Given the description of an element on the screen output the (x, y) to click on. 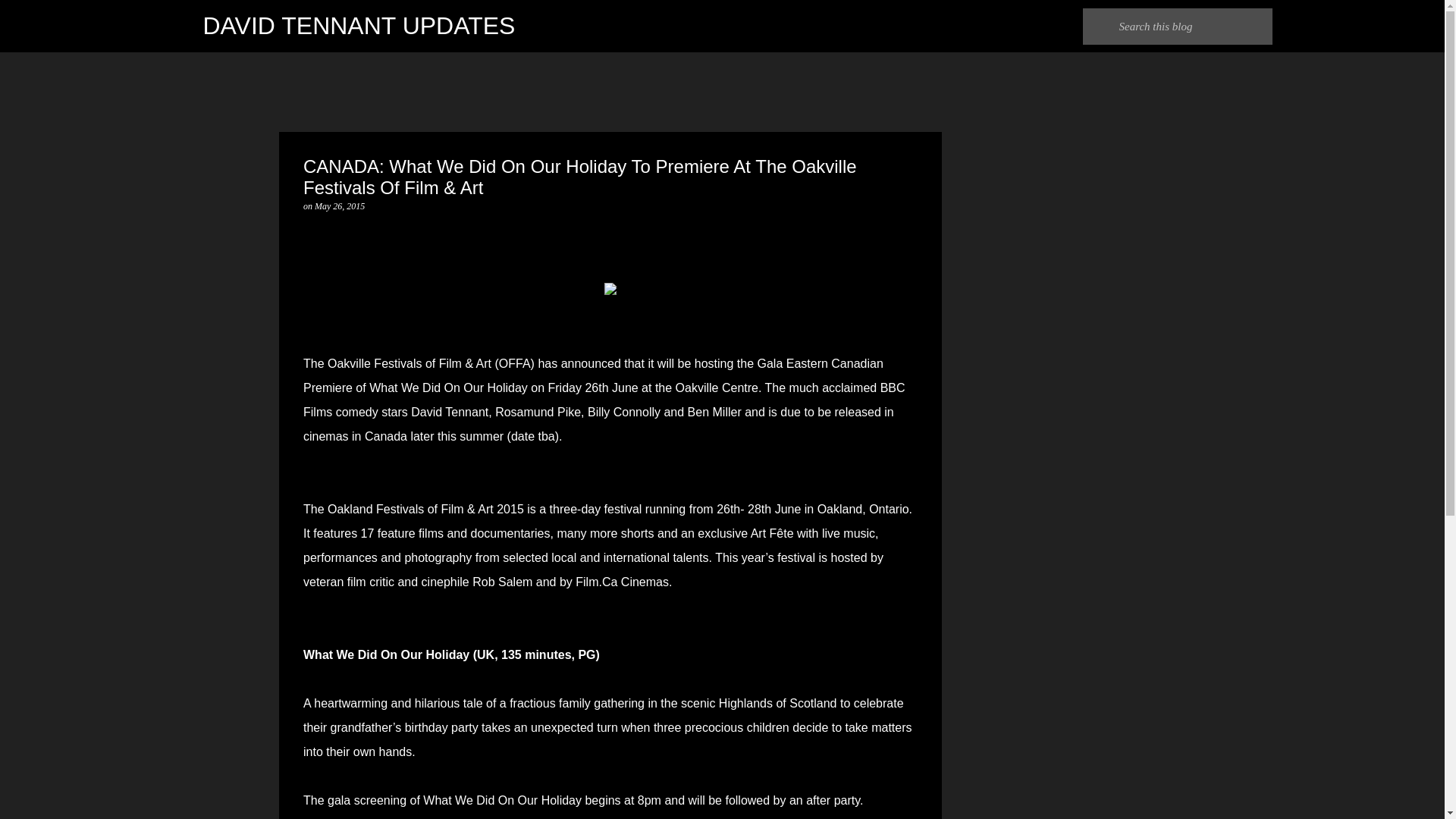
May 26, 2015 (339, 205)
DAVID TENNANT UPDATES (359, 25)
permanent link (339, 205)
